Given the description of an element on the screen output the (x, y) to click on. 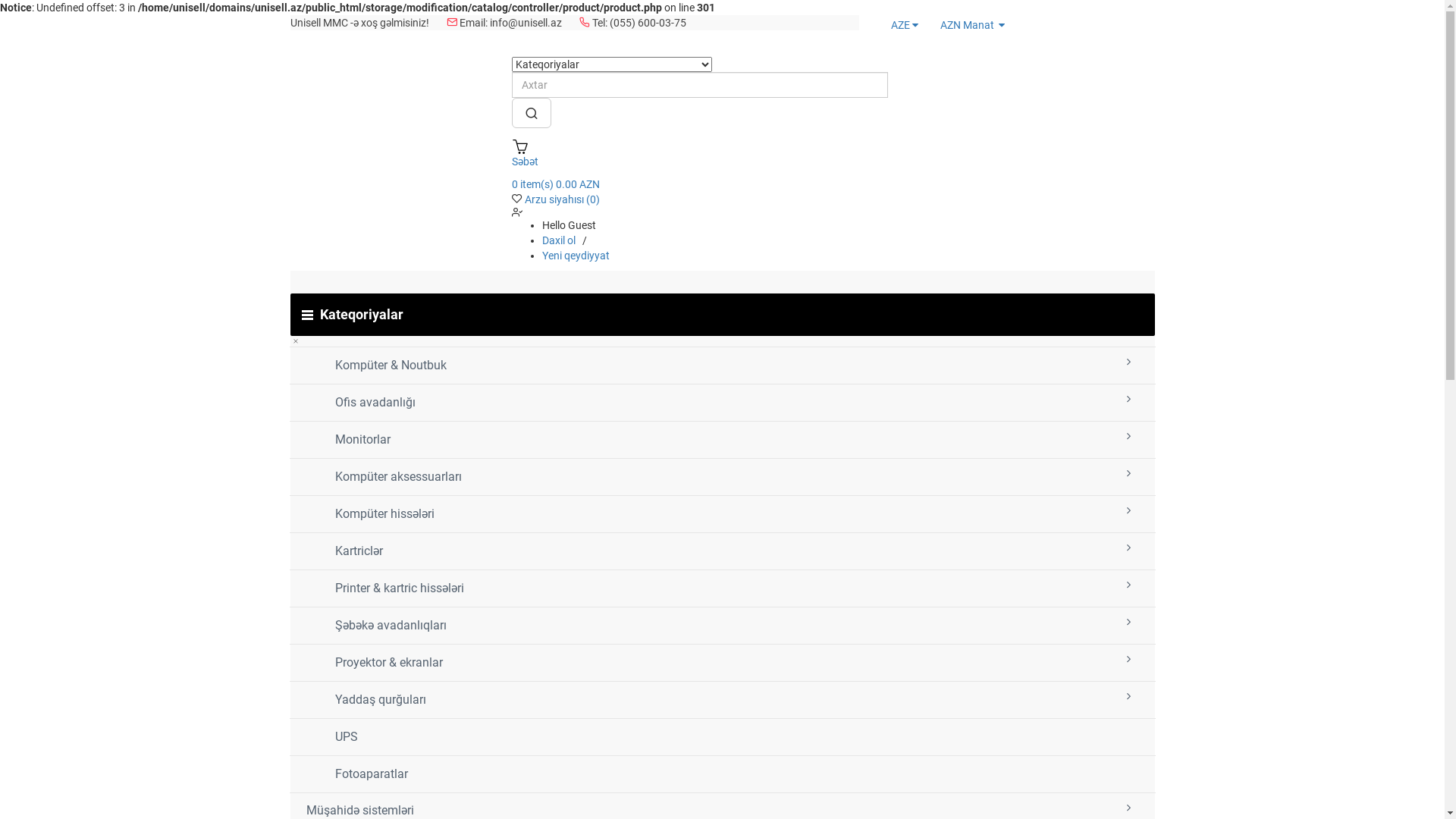
Unisell MMC Element type: hover (289, 56)
Yeni qeydiyyat Element type: text (575, 255)
Monitorlar Element type: text (721, 439)
AZN Manat   Element type: text (972, 24)
AZE Element type: hover (887, 25)
AZE Element type: text (902, 24)
Proyektor & ekranlar Element type: text (721, 662)
UPS Element type: text (721, 736)
Fotoaparatlar Element type: text (721, 774)
Daxil ol Element type: text (559, 240)
